Given the description of an element on the screen output the (x, y) to click on. 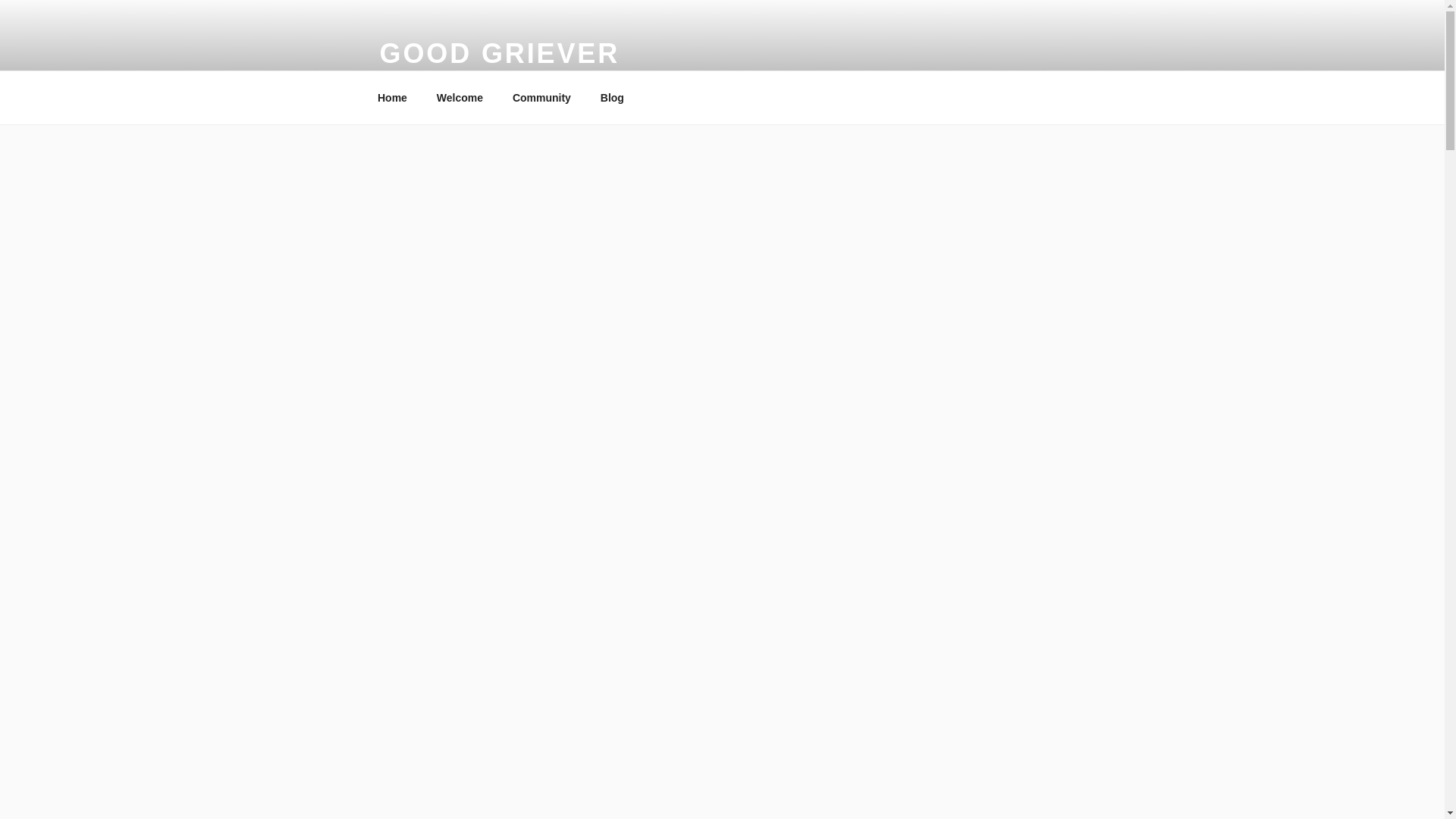
GOOD GRIEVER (499, 52)
Home (392, 97)
Community (541, 97)
Welcome (459, 97)
Blog (611, 97)
